Given the description of an element on the screen output the (x, y) to click on. 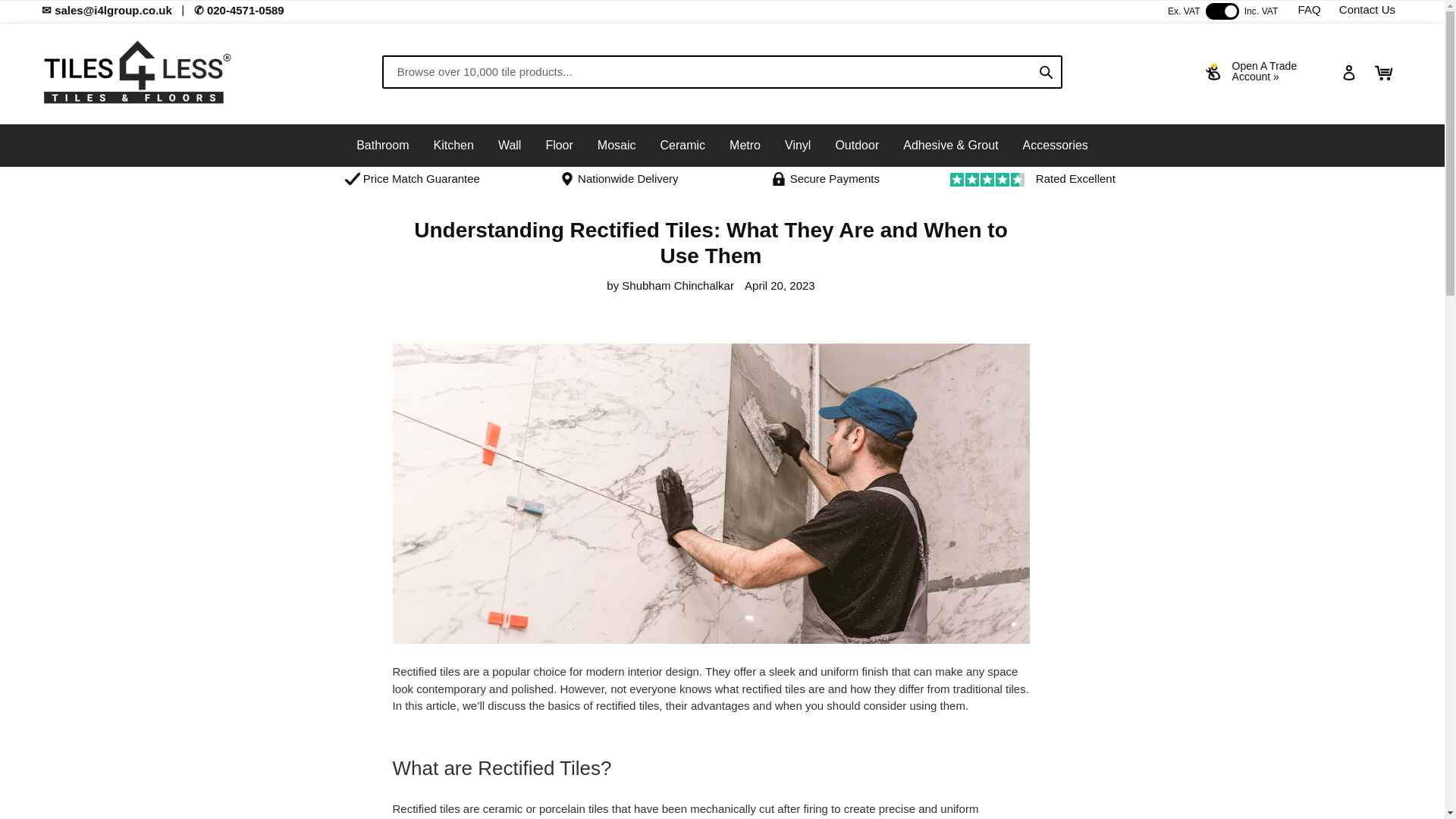
Bathroom (381, 144)
Cart (1384, 72)
Bathroom (381, 145)
Submit (1045, 71)
FAQ (1308, 9)
on (1222, 11)
Log in (1349, 72)
Contact Us (1367, 9)
